Given the description of an element on the screen output the (x, y) to click on. 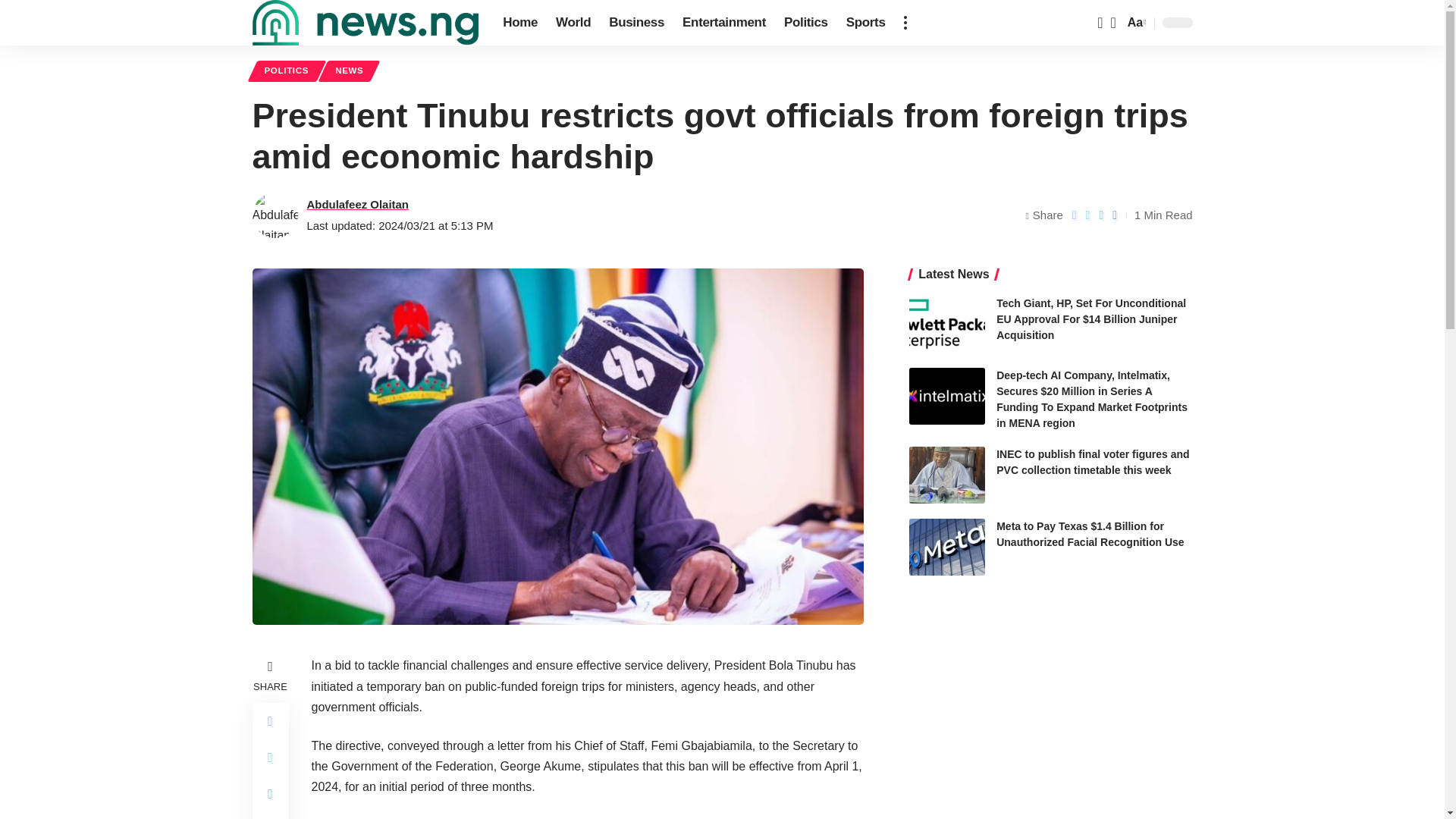
News.ng (365, 22)
Business (635, 22)
Home (520, 22)
Sports (866, 22)
Entertainment (723, 22)
Politics (805, 22)
World (573, 22)
